Given the description of an element on the screen output the (x, y) to click on. 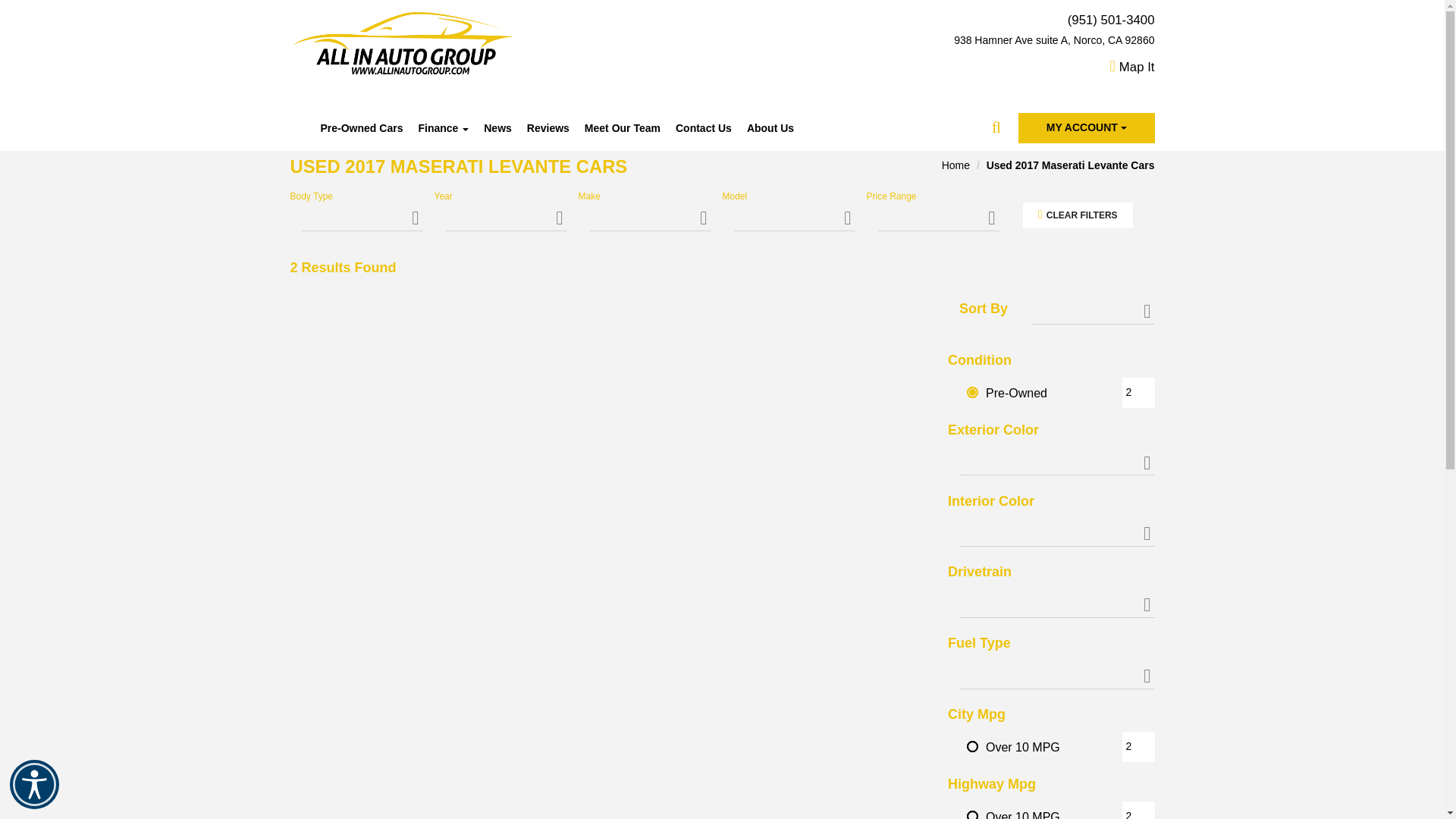
938 Hamner Ave suite A, Norco, CA 92860 (1017, 40)
Click here to view Pre-Owned Cars (361, 127)
News (497, 127)
Dealership Address (1017, 40)
Click here to Meet Our Team (622, 127)
Click here to Finance Your Car (443, 127)
CLEAR FILTERS (1077, 215)
Map It (1131, 66)
Pre-Owned Cars (361, 127)
Home (955, 164)
Dealership Address (1131, 66)
Click here to view Reviews (547, 127)
Contact Us (703, 127)
Contact Us (703, 127)
MY ACCOUNT (1085, 128)
